Given the description of an element on the screen output the (x, y) to click on. 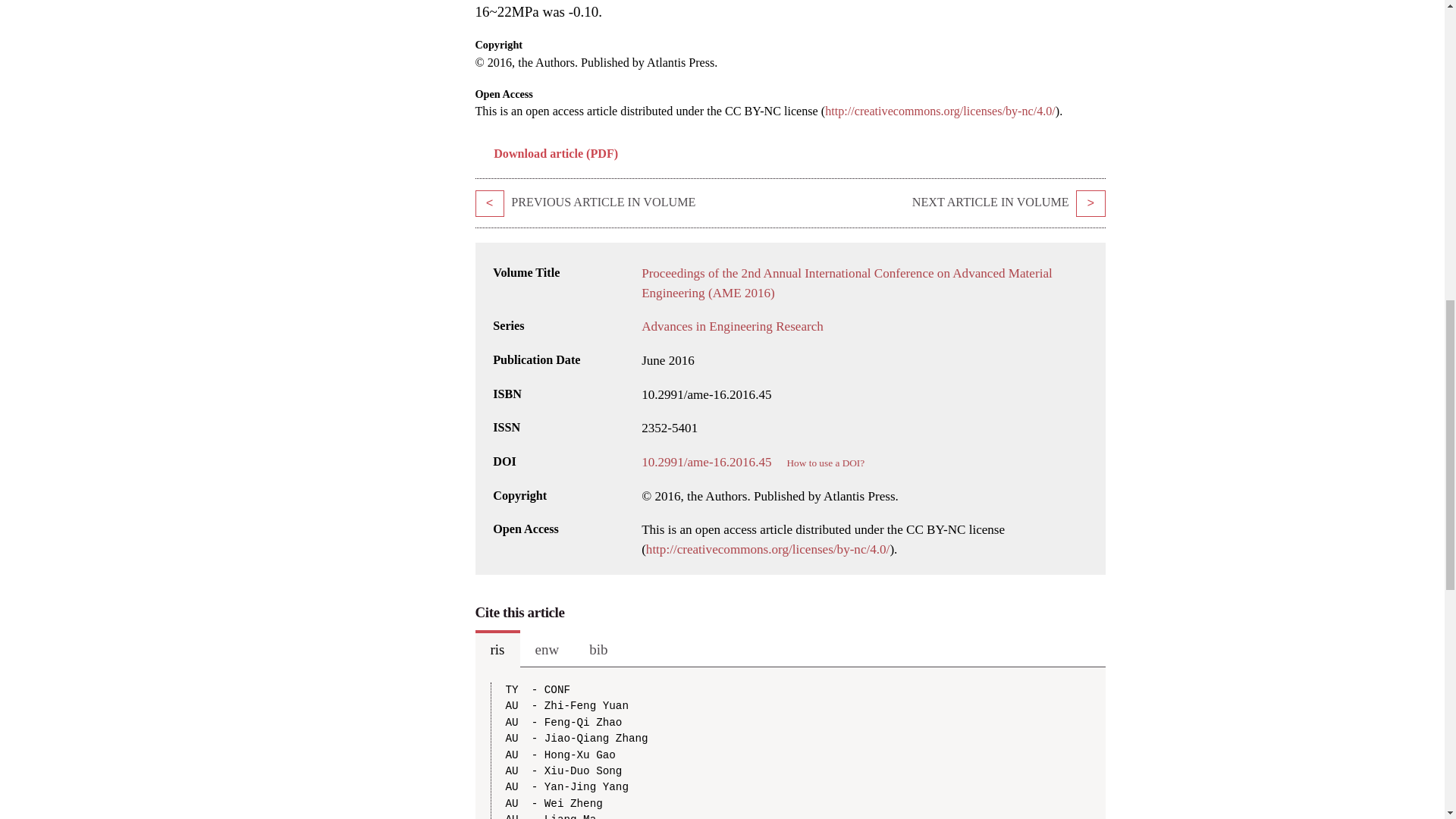
Advances in Engineering Research (733, 326)
ris (496, 648)
bib (598, 648)
How to use a DOI? (825, 462)
enw (547, 648)
